Given the description of an element on the screen output the (x, y) to click on. 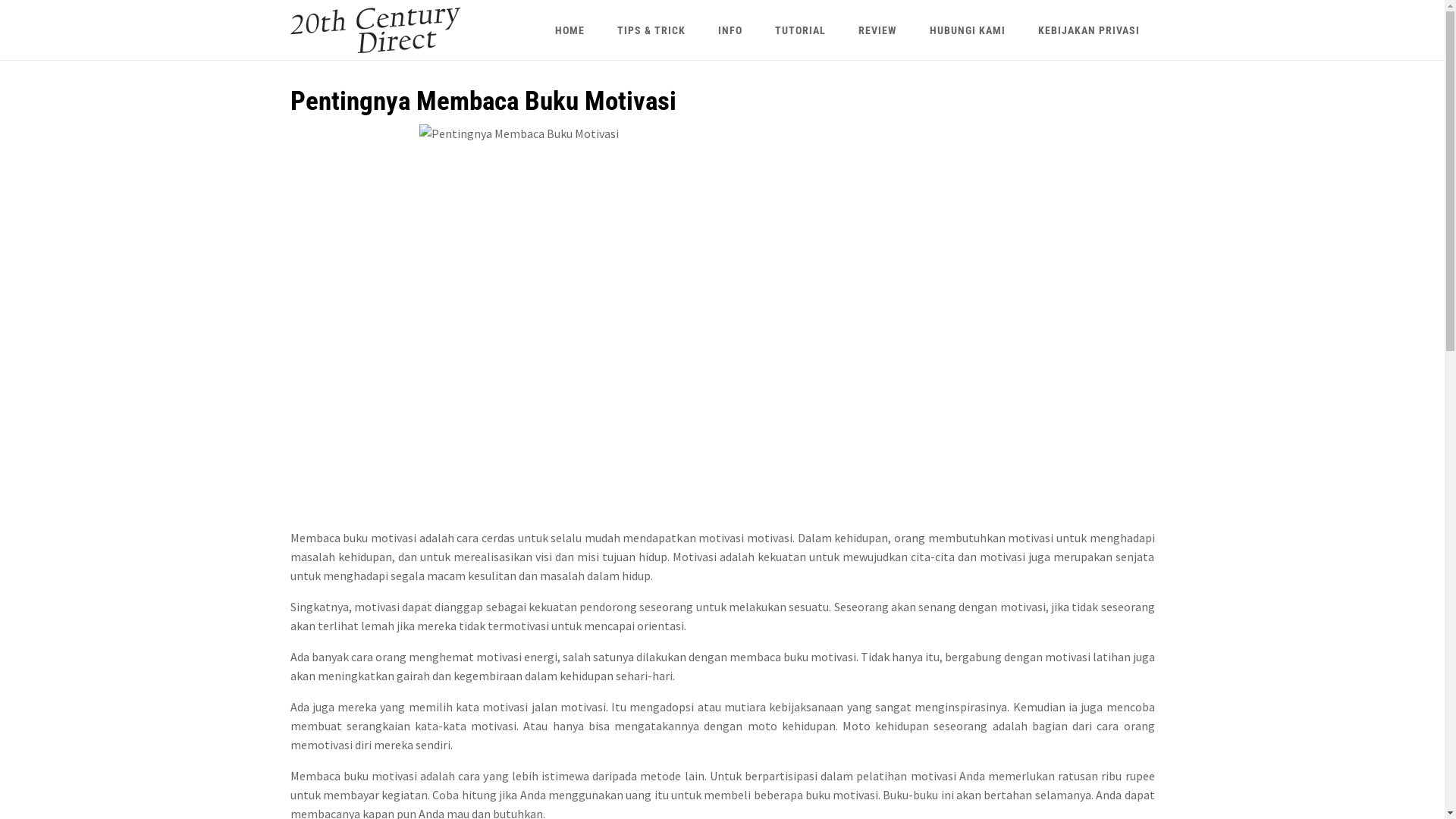
INFO Element type: text (729, 30)
TIPS & TRICK Element type: text (651, 30)
TUTORIAL Element type: text (799, 30)
REVIEW Element type: text (877, 30)
KEBIJAKAN PRIVASI Element type: text (1088, 30)
HOME Element type: text (569, 30)
HUBUNGI KAMI Element type: text (967, 30)
